Given the description of an element on the screen output the (x, y) to click on. 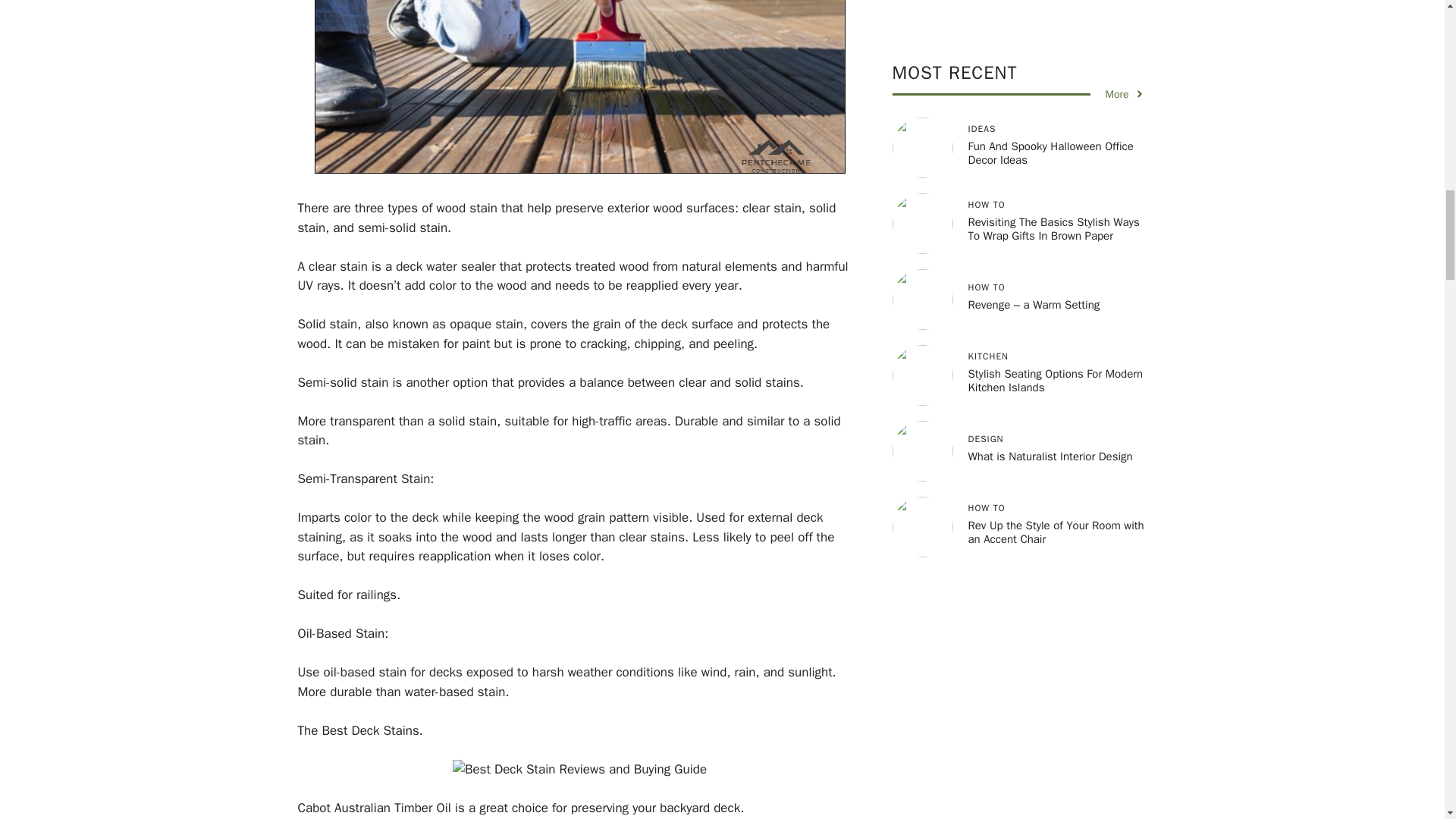
Best Deck Stain Reviews and Buying Guide (579, 86)
Best Deck Stain Reviews and Buying Guide (579, 769)
